Given the description of an element on the screen output the (x, y) to click on. 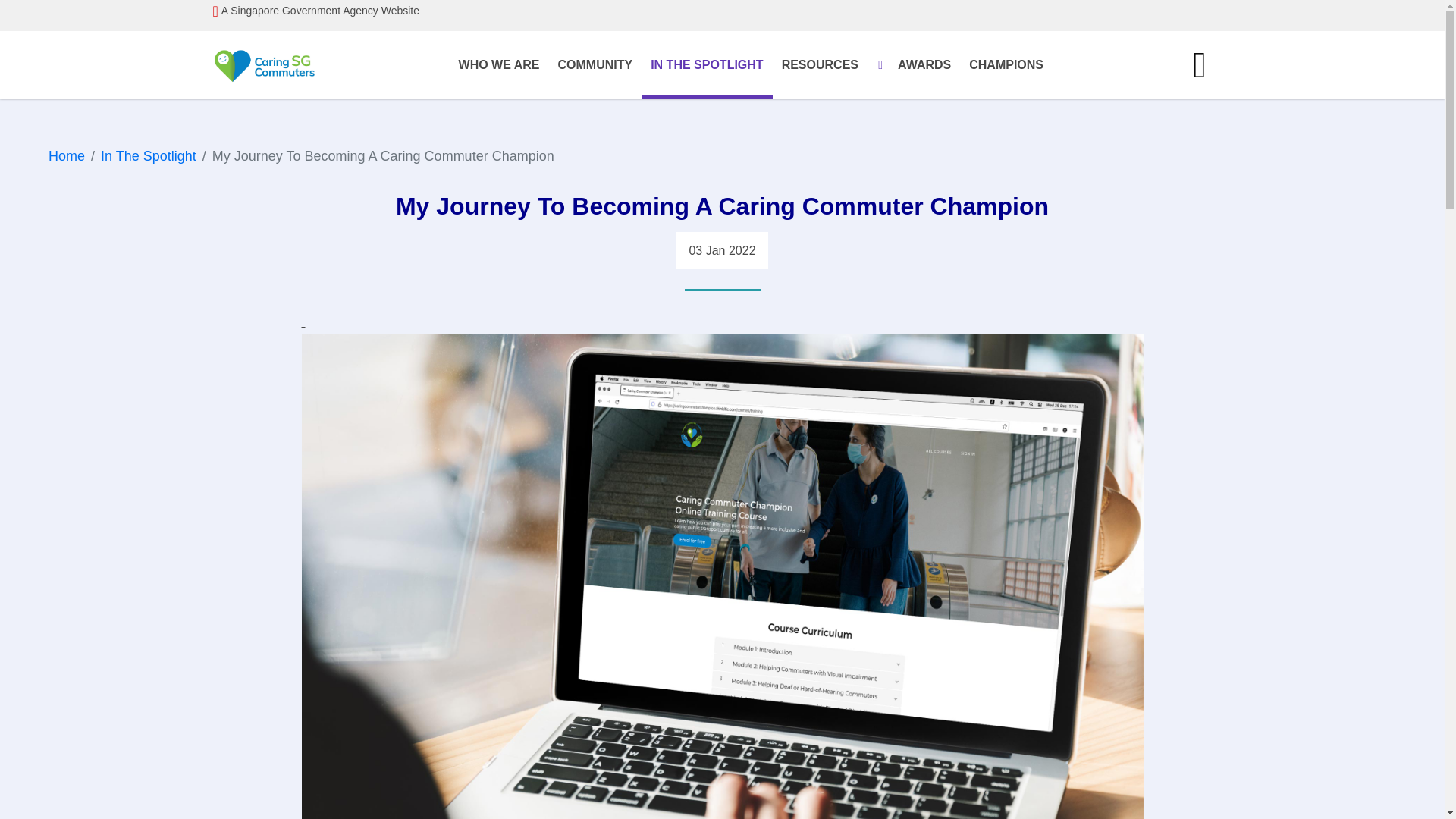
COMMUNITY (595, 64)
CHAMPIONS (1005, 64)
IN THE SPOTLIGHT (706, 66)
In The Spotlight (148, 155)
Home (66, 155)
AWARDS (923, 64)
A Singapore Government Agency Website (721, 10)
WHO WE ARE (498, 64)
